Given the description of an element on the screen output the (x, y) to click on. 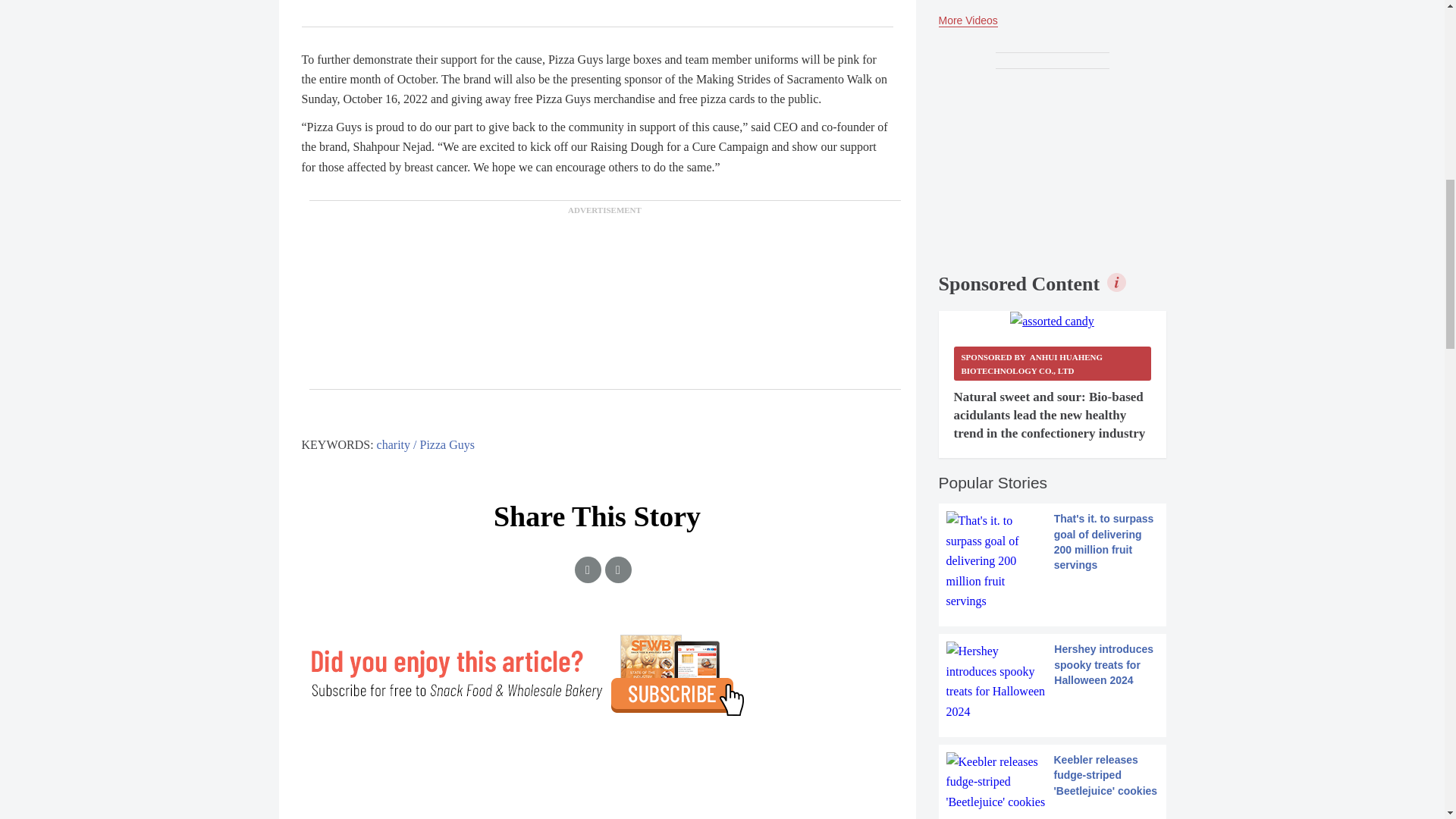
assorted candy (1052, 321)
Hershey introduces spooky treats for Halloween 2024 (1052, 681)
Keebler releases fudge-striped 'Beetlejuice' cookies (1052, 782)
Sponsored by Anhui Huaheng Biotechnology Co., Ltd (1052, 363)
